Given the description of an element on the screen output the (x, y) to click on. 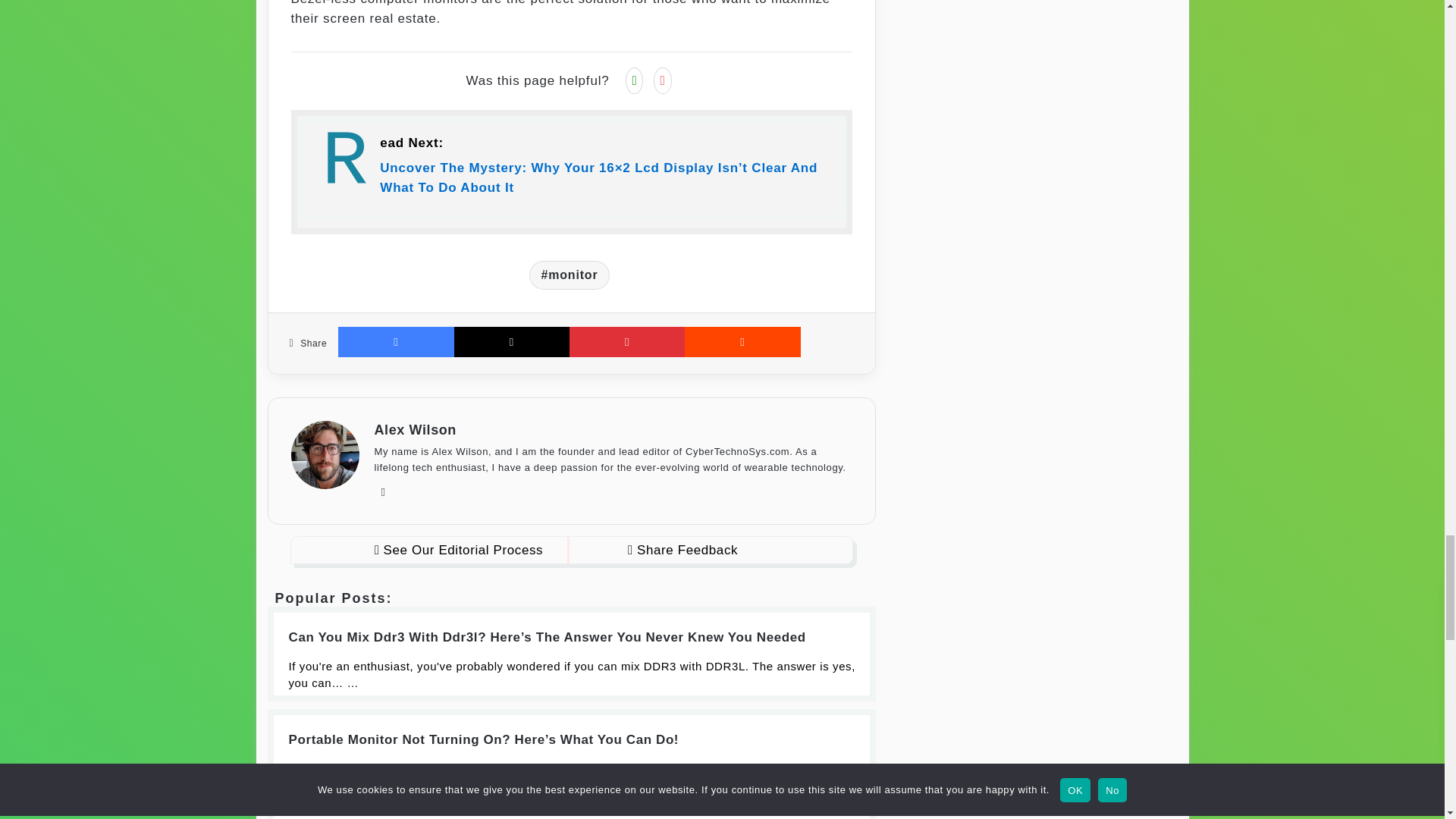
monitor (569, 275)
Facebook (394, 341)
Pinterest (626, 341)
Reddit (741, 341)
X (511, 341)
